Given the description of an element on the screen output the (x, y) to click on. 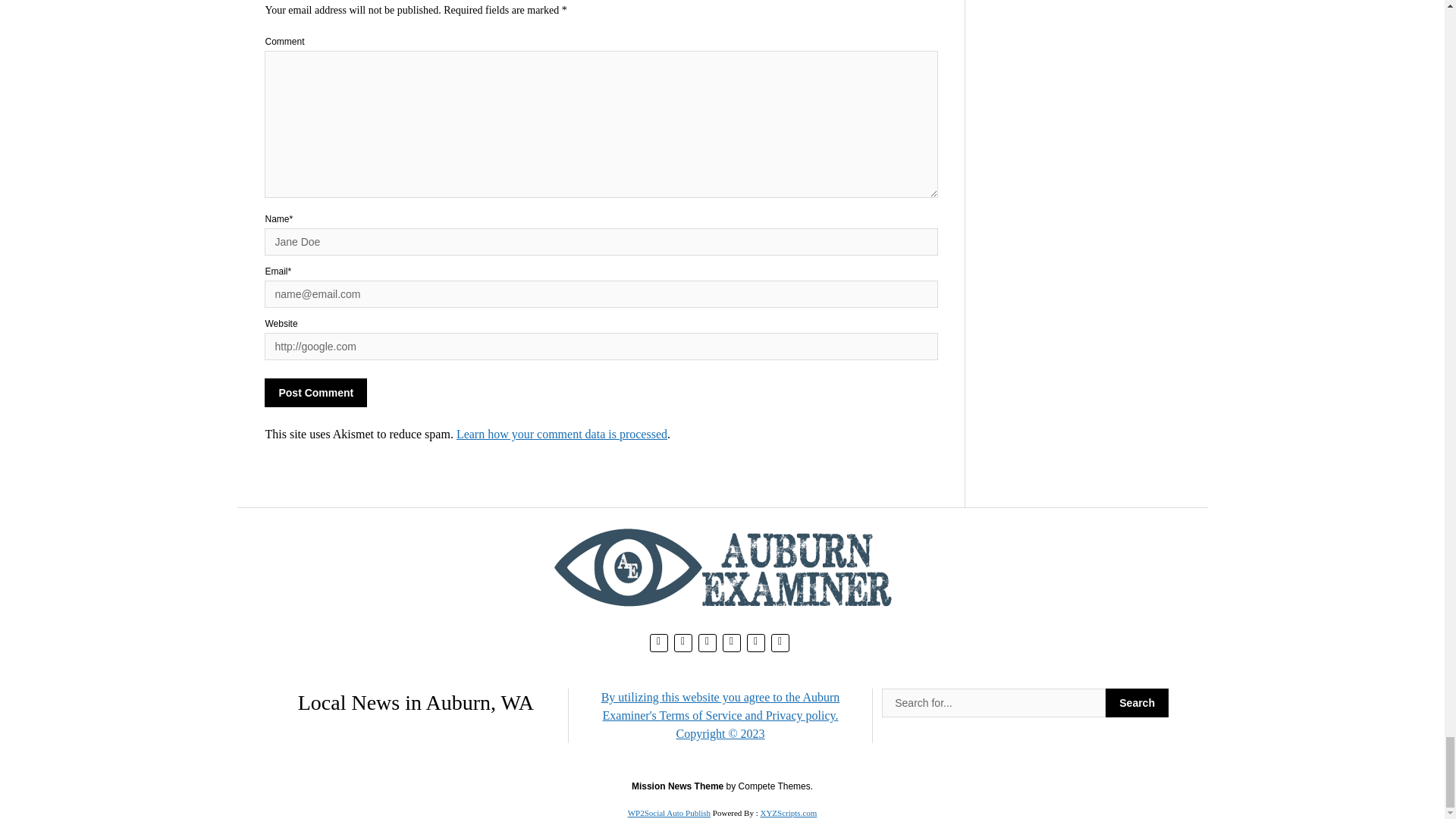
Search (1137, 702)
Search (1137, 702)
Post Comment (315, 392)
